Given the description of an element on the screen output the (x, y) to click on. 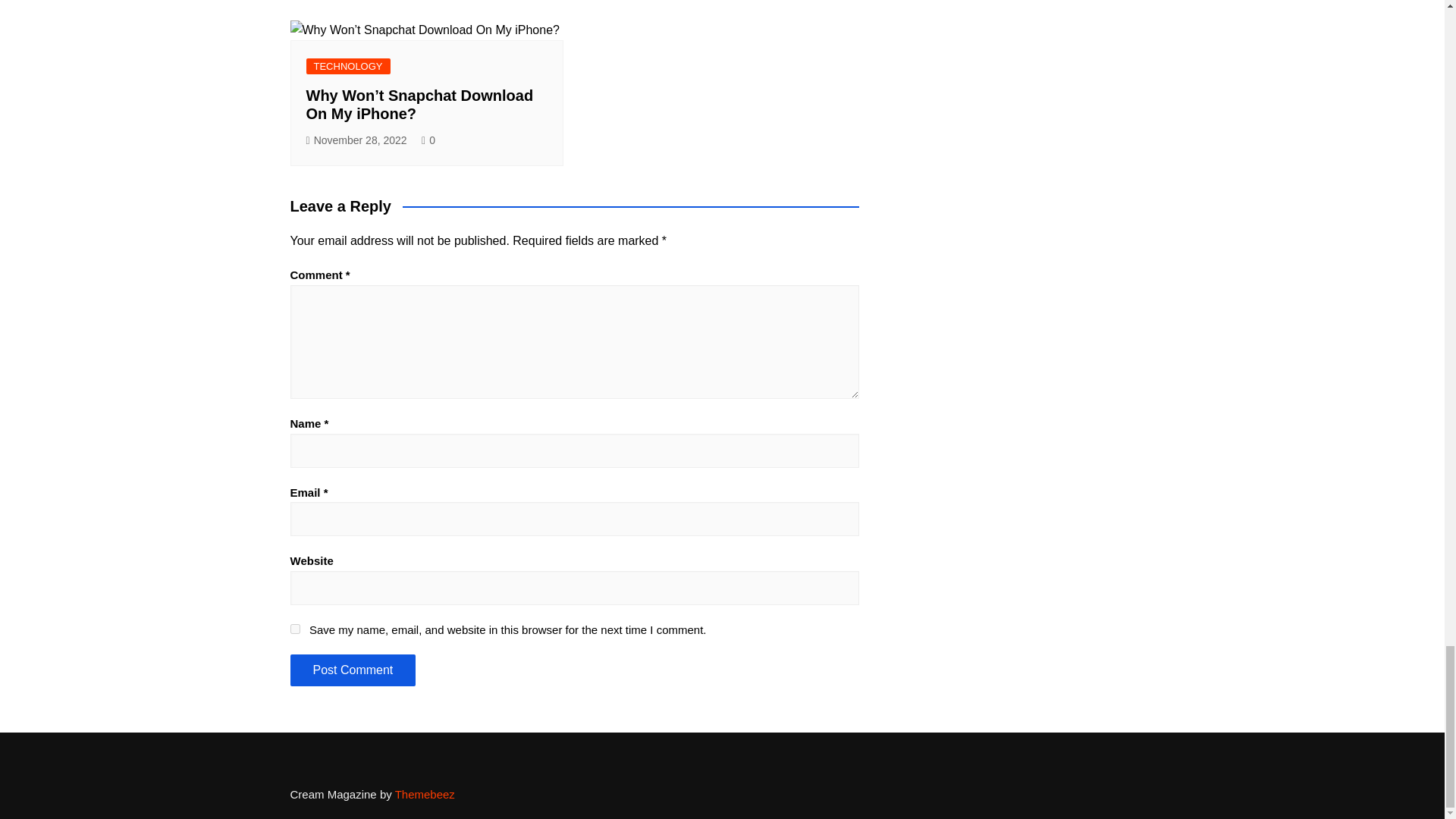
TECHNOLOGY (347, 66)
Post Comment (351, 670)
November 28, 2022 (356, 140)
yes (294, 628)
